Given the description of an element on the screen output the (x, y) to click on. 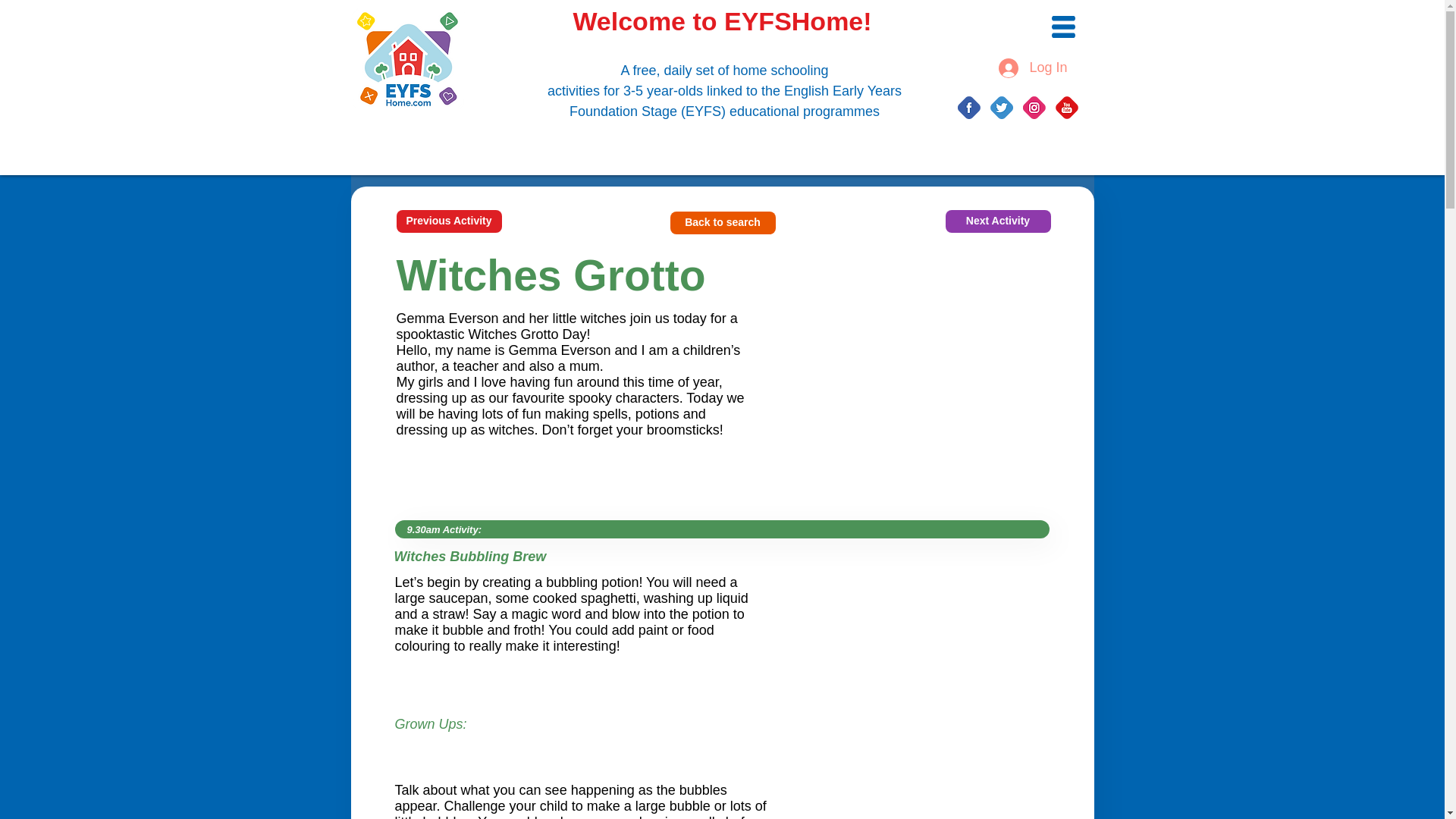
Back to search (722, 222)
Next Activity (996, 220)
Log In (1032, 67)
Previous Activity (448, 220)
